Given the description of an element on the screen output the (x, y) to click on. 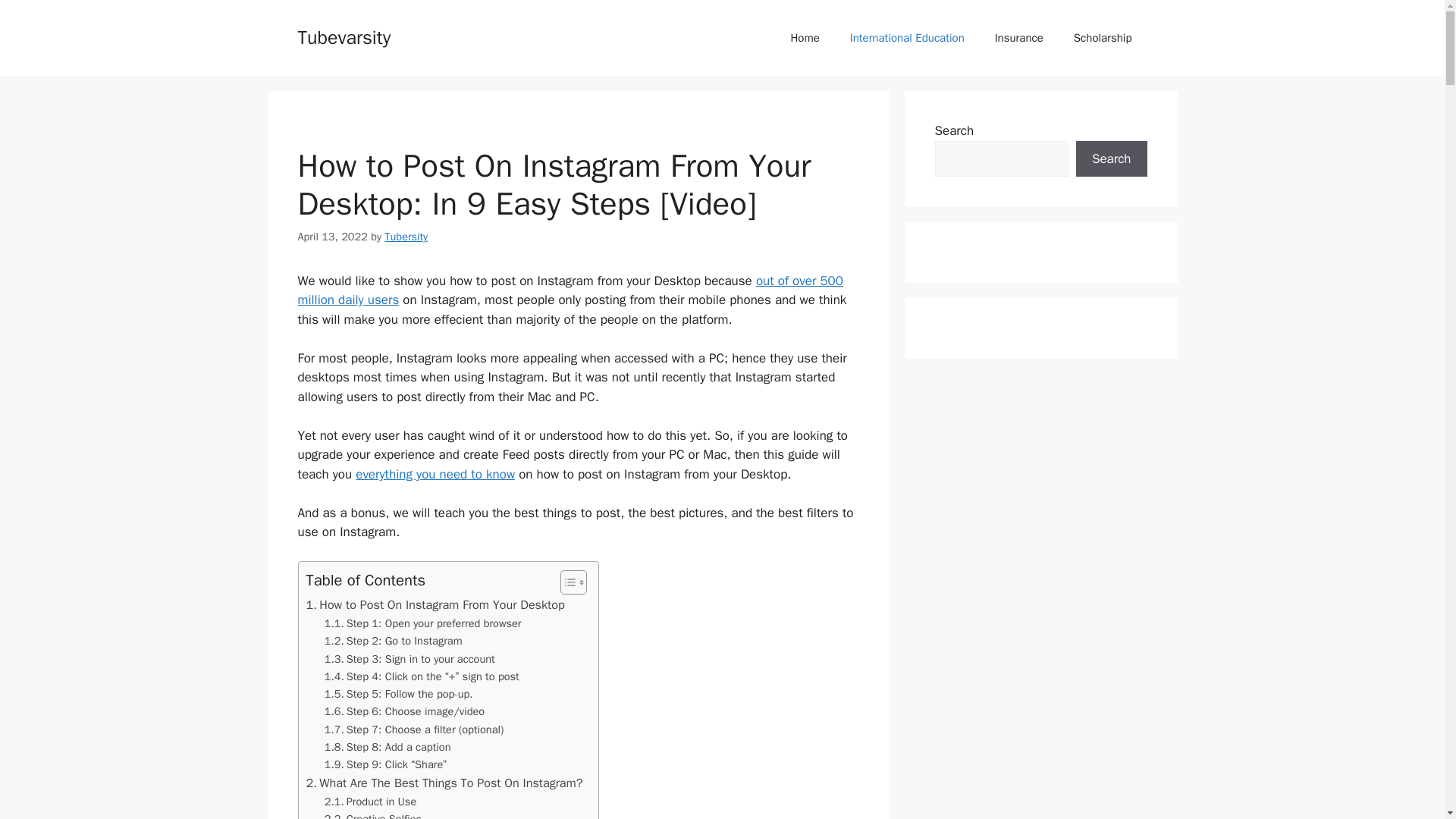
Step 2: Go to Instagram (393, 641)
Insurance (1018, 37)
How to Post On Instagram From Your Desktop (434, 605)
Step 3: Sign in to your account (409, 659)
Creative Selfies (373, 814)
Creative Selfies (373, 814)
Step 3: Sign in to your account (409, 659)
Product in Use (370, 801)
Product in Use (370, 801)
Tubevarsity (343, 37)
